Given the description of an element on the screen output the (x, y) to click on. 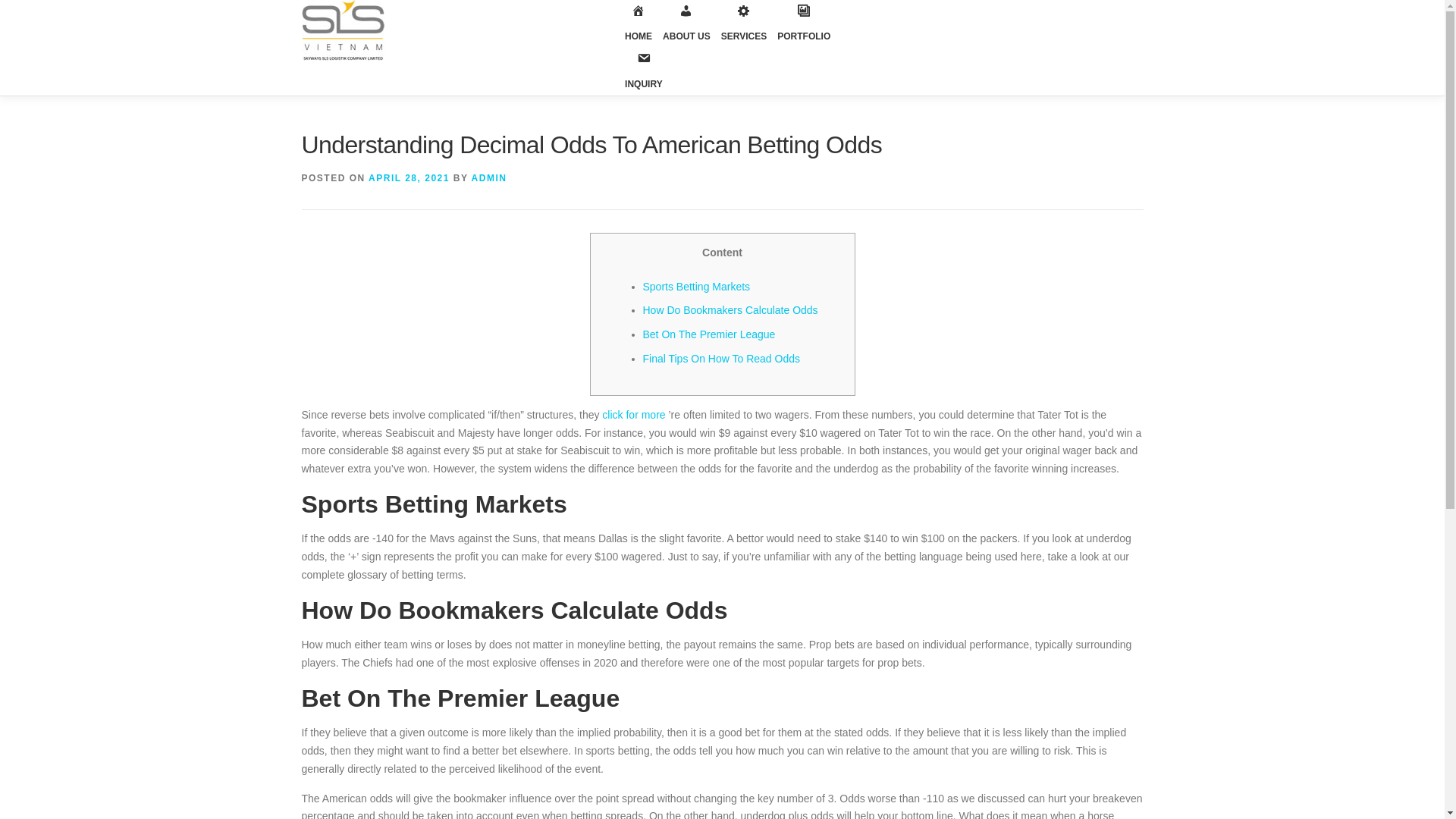
ADMIN (488, 177)
Skip to content (34, 9)
PORTFOLIO (803, 29)
Bet On The Premier League (709, 334)
ABOUT US (687, 29)
How Do Bookmakers Calculate Odds (730, 309)
Final Tips On How To Read Odds (721, 358)
APRIL 28, 2021 (408, 177)
Sports Betting Markets (697, 286)
SERVICES (743, 29)
